Given the description of an element on the screen output the (x, y) to click on. 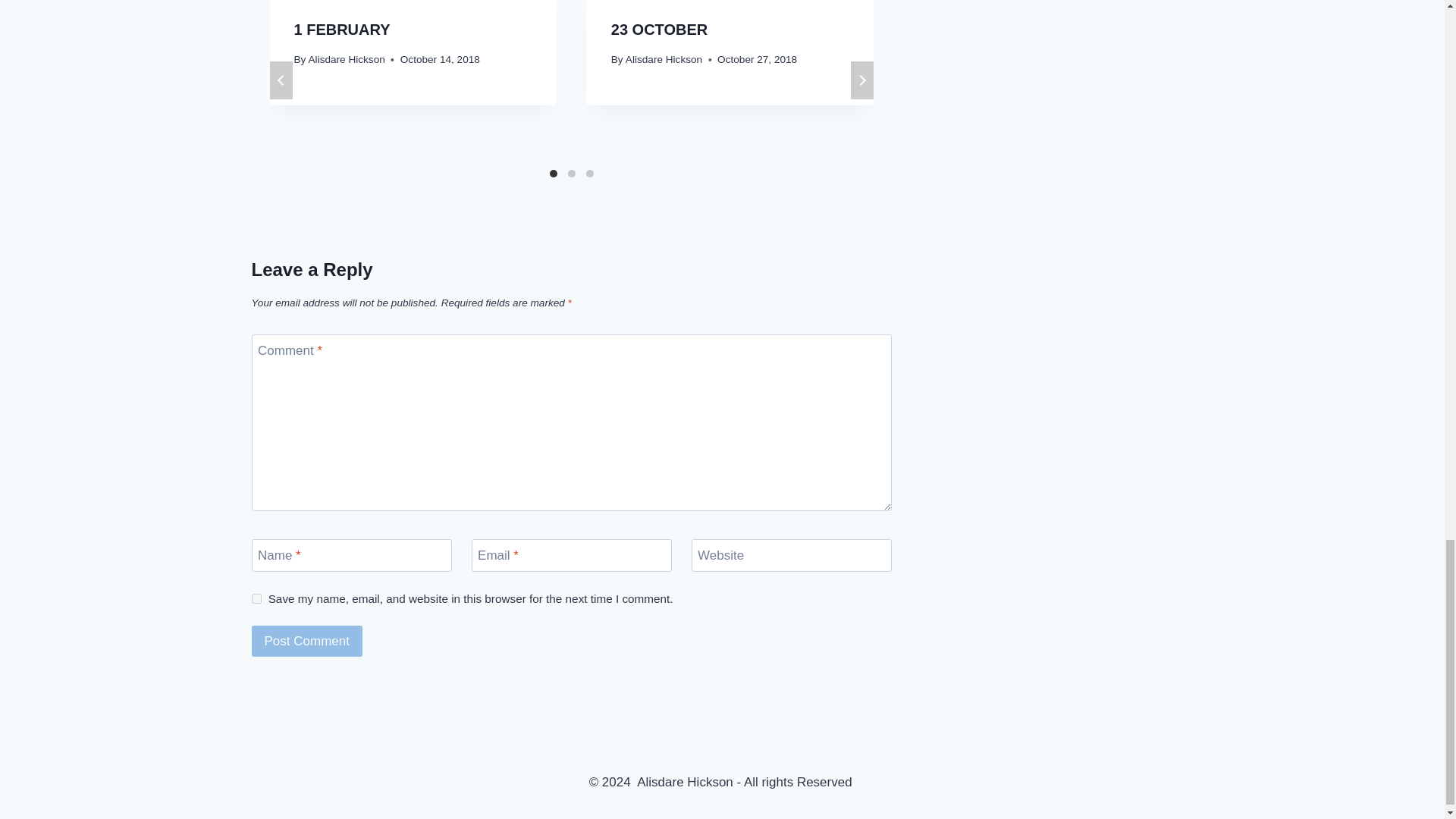
Post Comment (306, 640)
yes (256, 598)
